Given the description of an element on the screen output the (x, y) to click on. 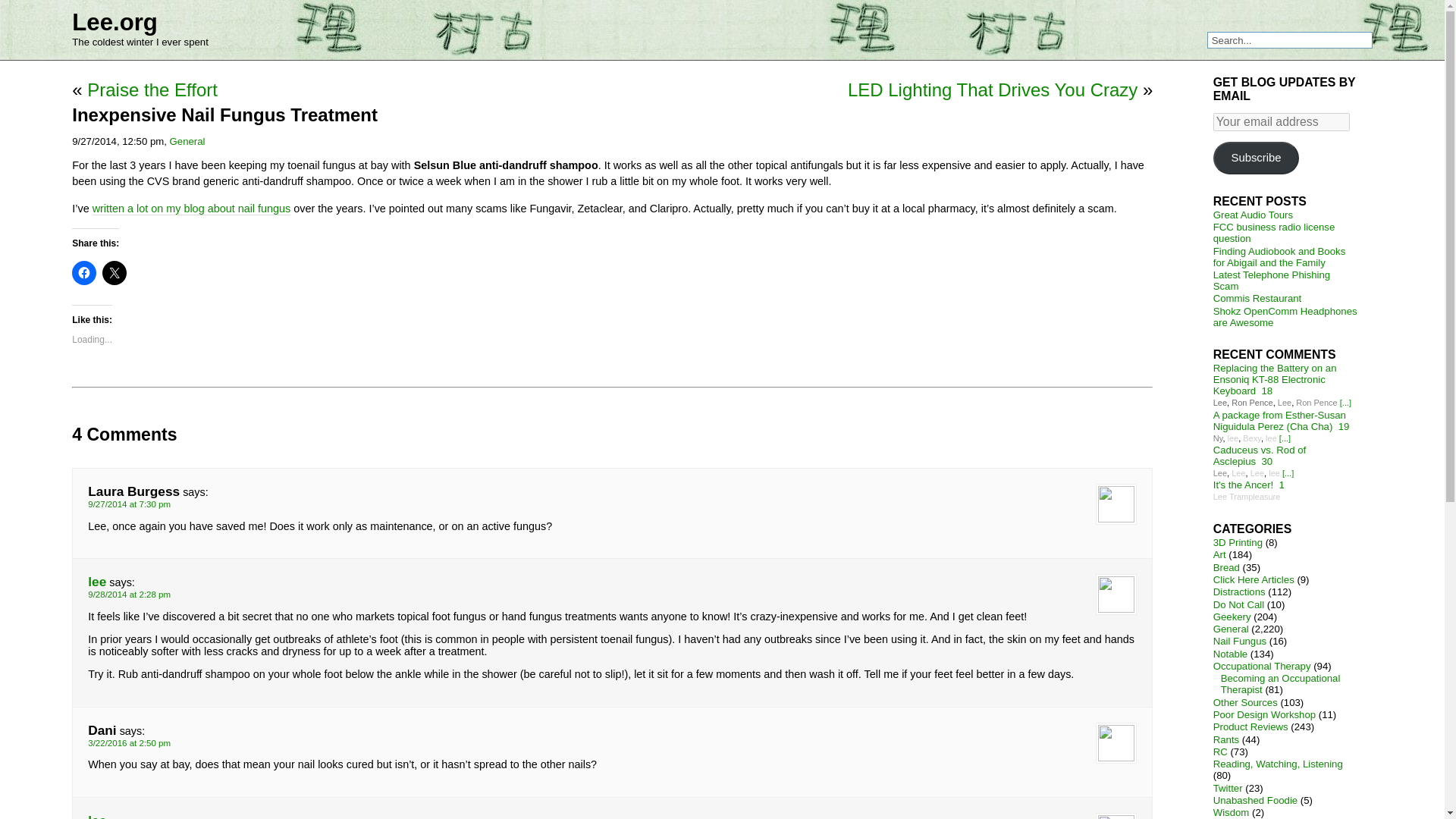
Ny (1217, 438)
19 (1343, 426)
lee (1270, 438)
Ron Pence (1251, 402)
Subscribe (1256, 158)
Ron Pence (1315, 402)
Finding Audiobook and Books for Abigail and the Family (1278, 256)
Permanent Link to Inexpensive Nail Fungus Treatment (224, 114)
written a lot on my blog about nail fungus (192, 208)
18 (1267, 390)
